Given the description of an element on the screen output the (x, y) to click on. 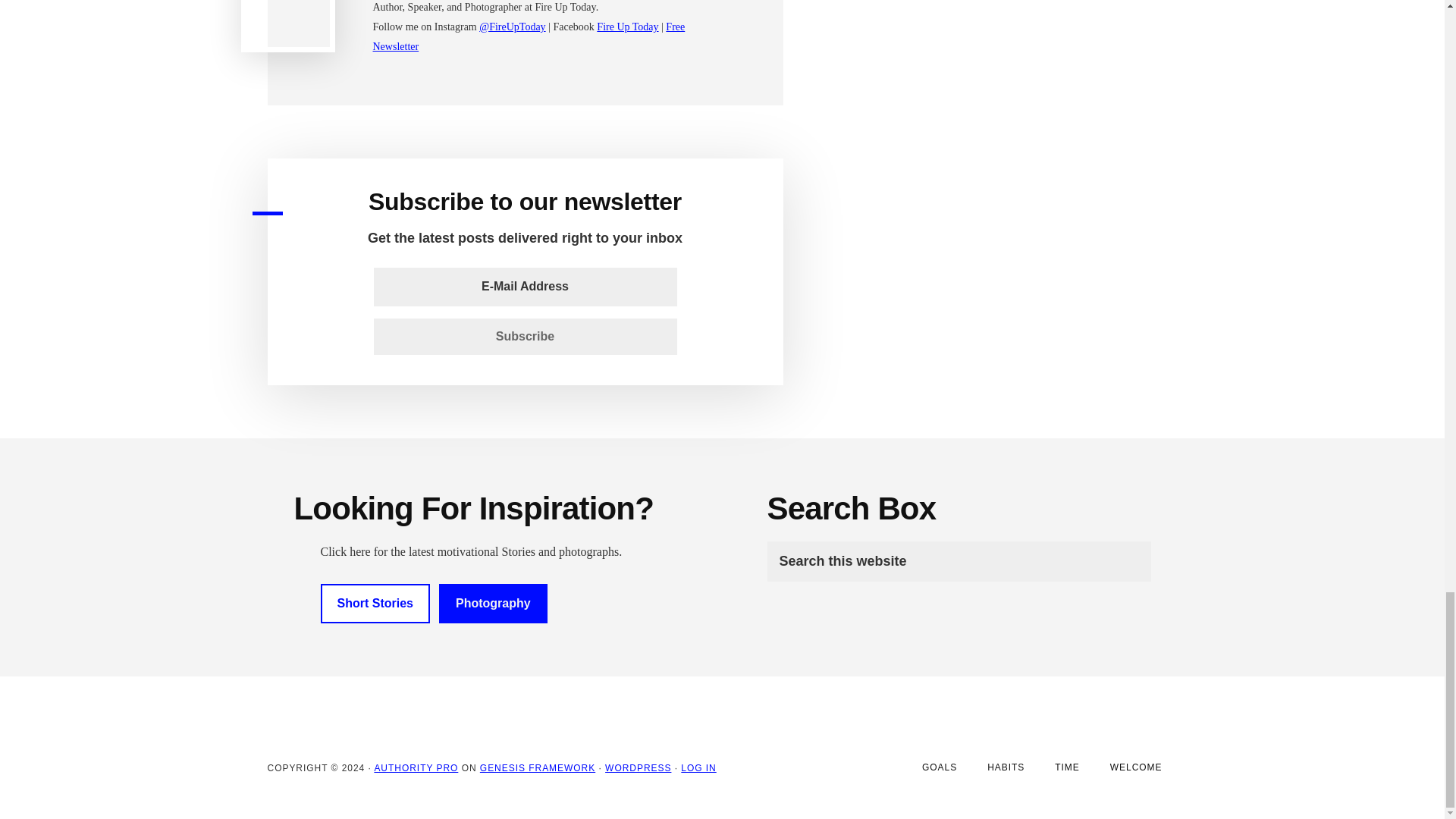
Free Newsletter (528, 36)
Subscribe (524, 336)
Fire Up Today (627, 26)
Subscribe (524, 336)
